Given the description of an element on the screen output the (x, y) to click on. 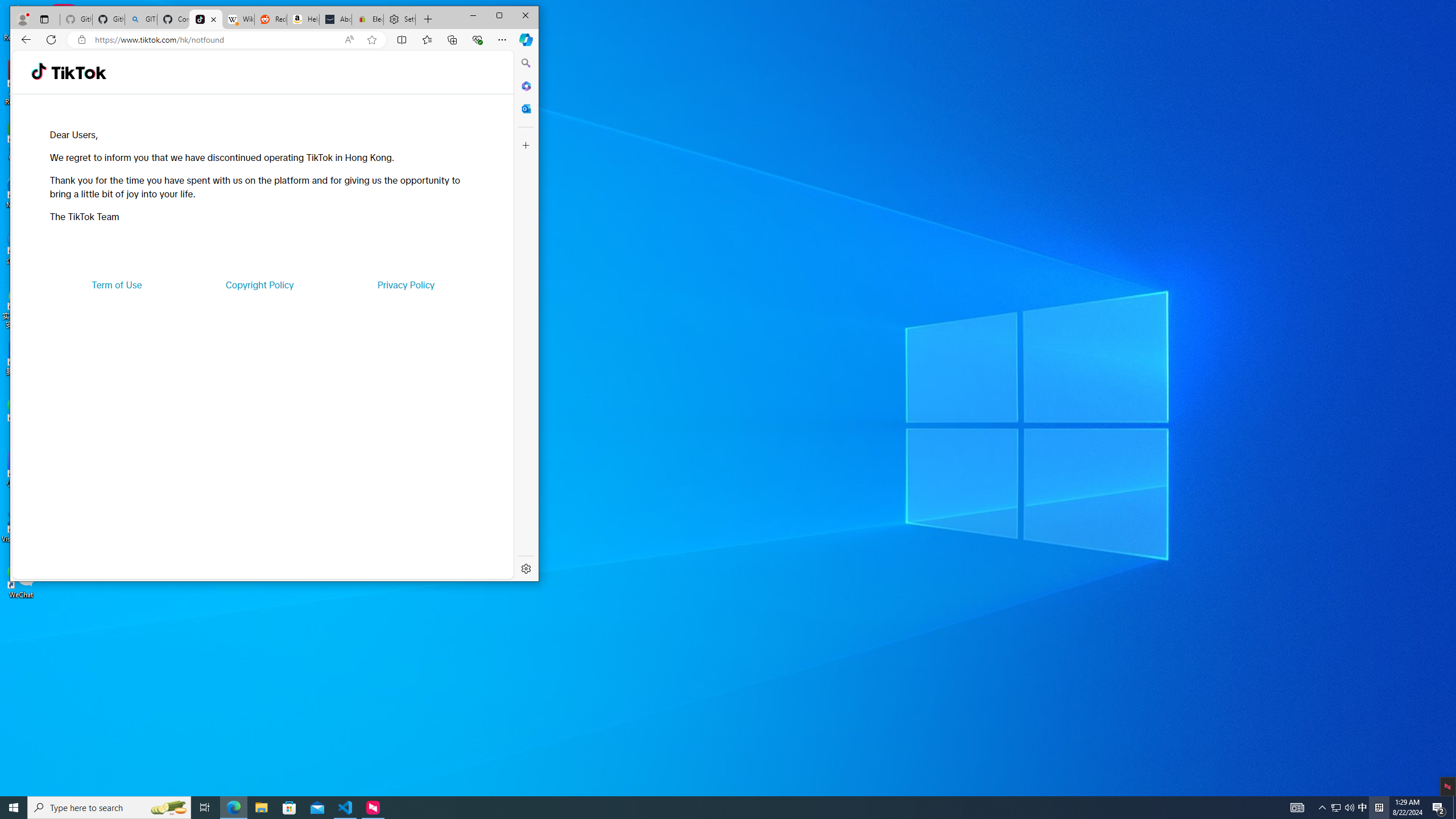
AutomationID: 4105 (1297, 807)
About Amazon (335, 19)
Notification Chevron (1322, 807)
GITHUB - Search (140, 19)
TikTok (78, 72)
Tray Input Indicator - Chinese (Simplified, China) (1378, 807)
